Given the description of an element on the screen output the (x, y) to click on. 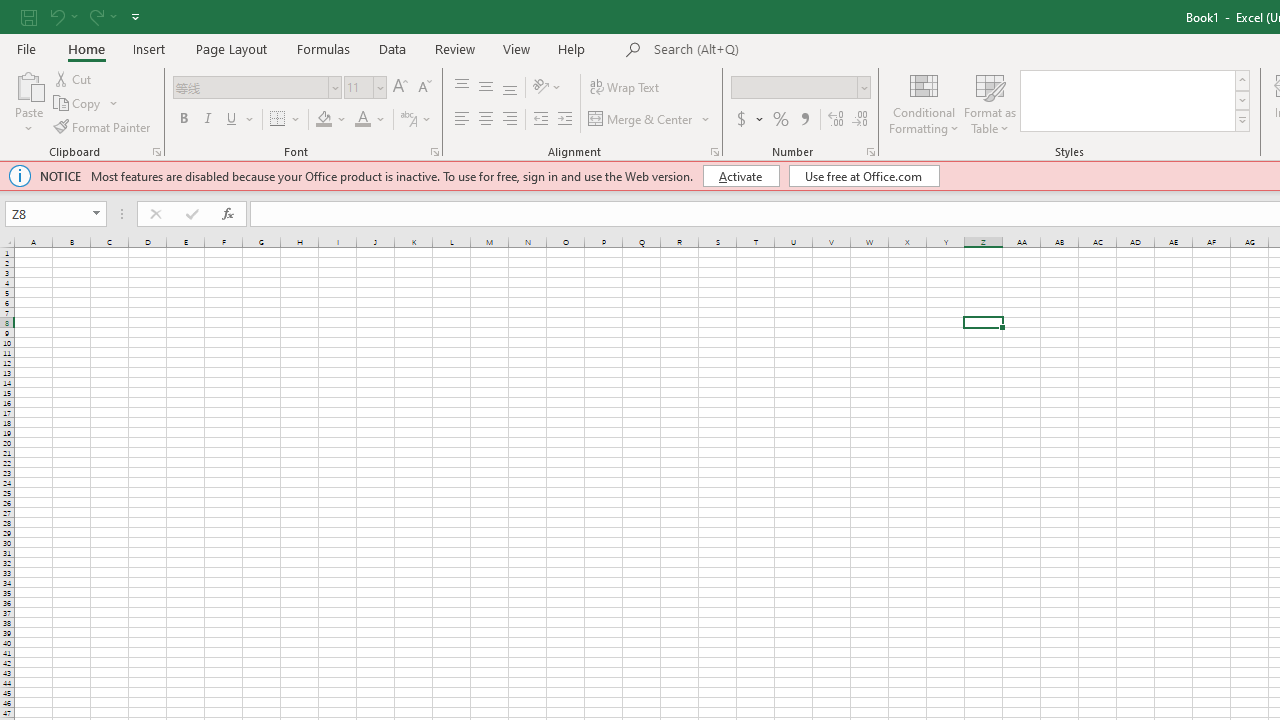
Format as Table (990, 102)
Italic (207, 119)
AutomationID: CellStylesGallery (1135, 100)
Name Box (56, 214)
Cell Styles (1242, 120)
Quick Access Toolbar (82, 16)
Borders (285, 119)
Bold (183, 119)
Redo (102, 15)
Home (86, 48)
Merge & Center (649, 119)
Undo (56, 15)
Office Clipboard... (156, 151)
View (517, 48)
